Given the description of an element on the screen output the (x, y) to click on. 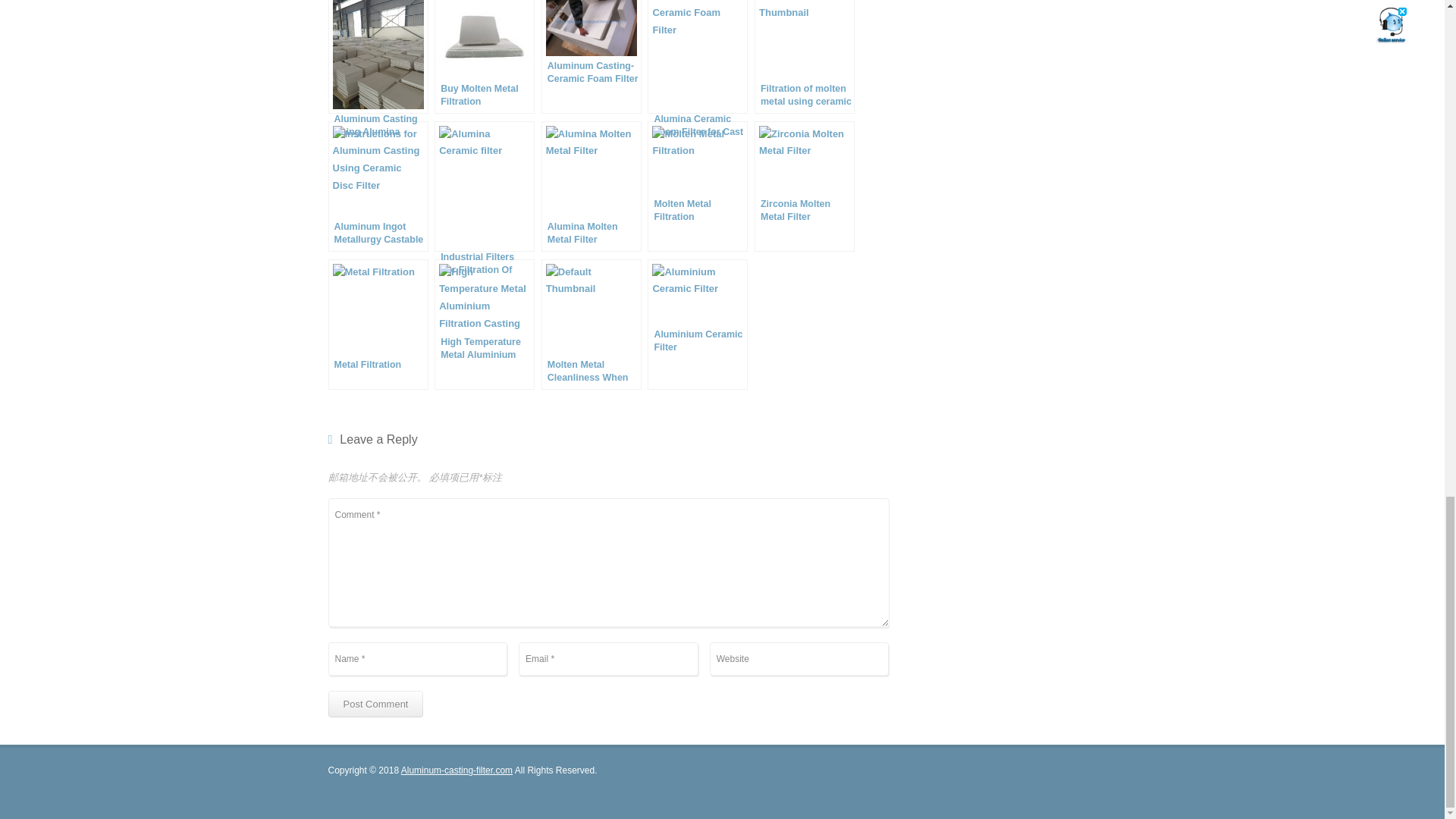
Aluminum-casting-filter.com (456, 769)
Post Comment (375, 704)
Post Comment (375, 704)
Website (799, 658)
